Given the description of an element on the screen output the (x, y) to click on. 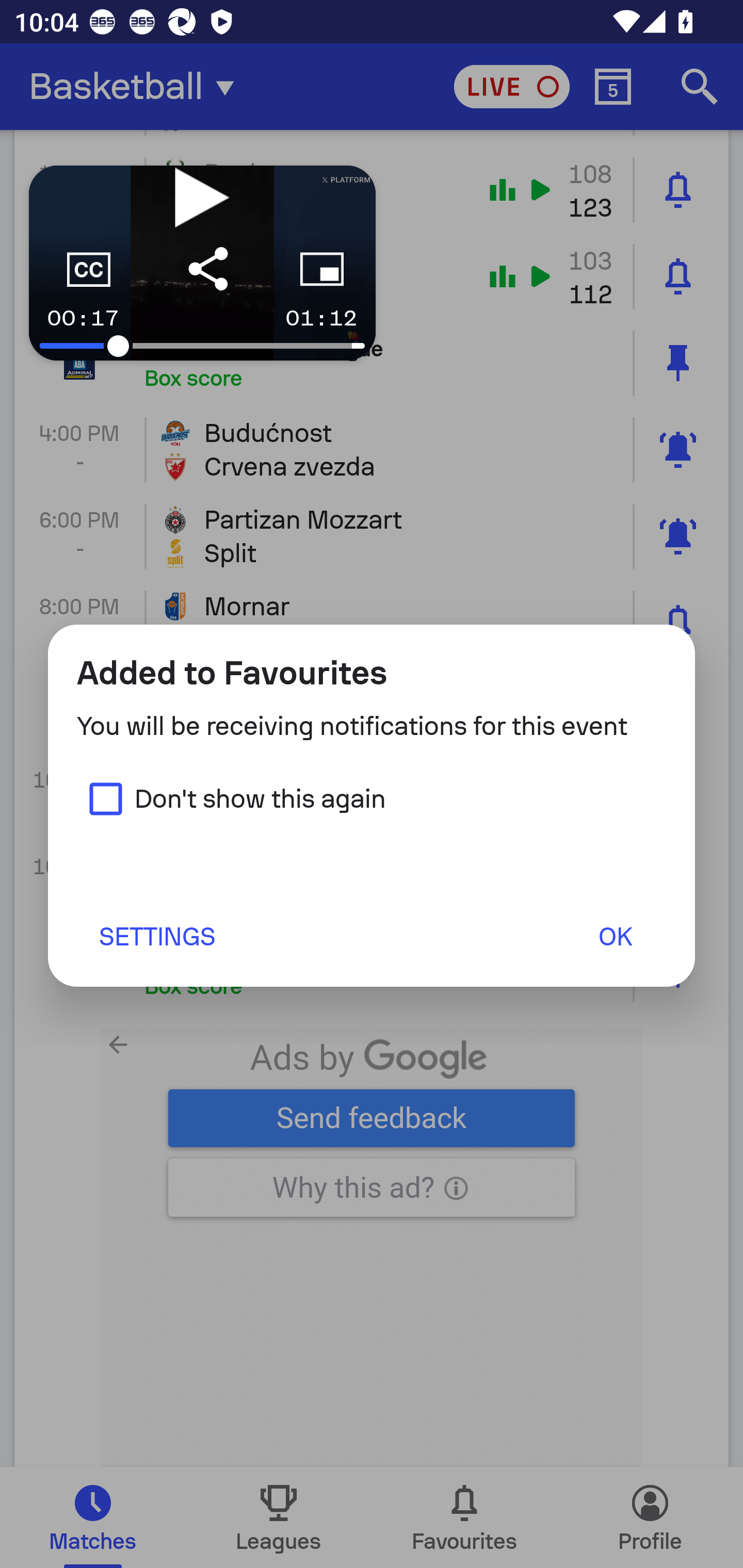
Don't show this again (231, 798)
SETTINGS (156, 936)
OK (615, 936)
